Given the description of an element on the screen output the (x, y) to click on. 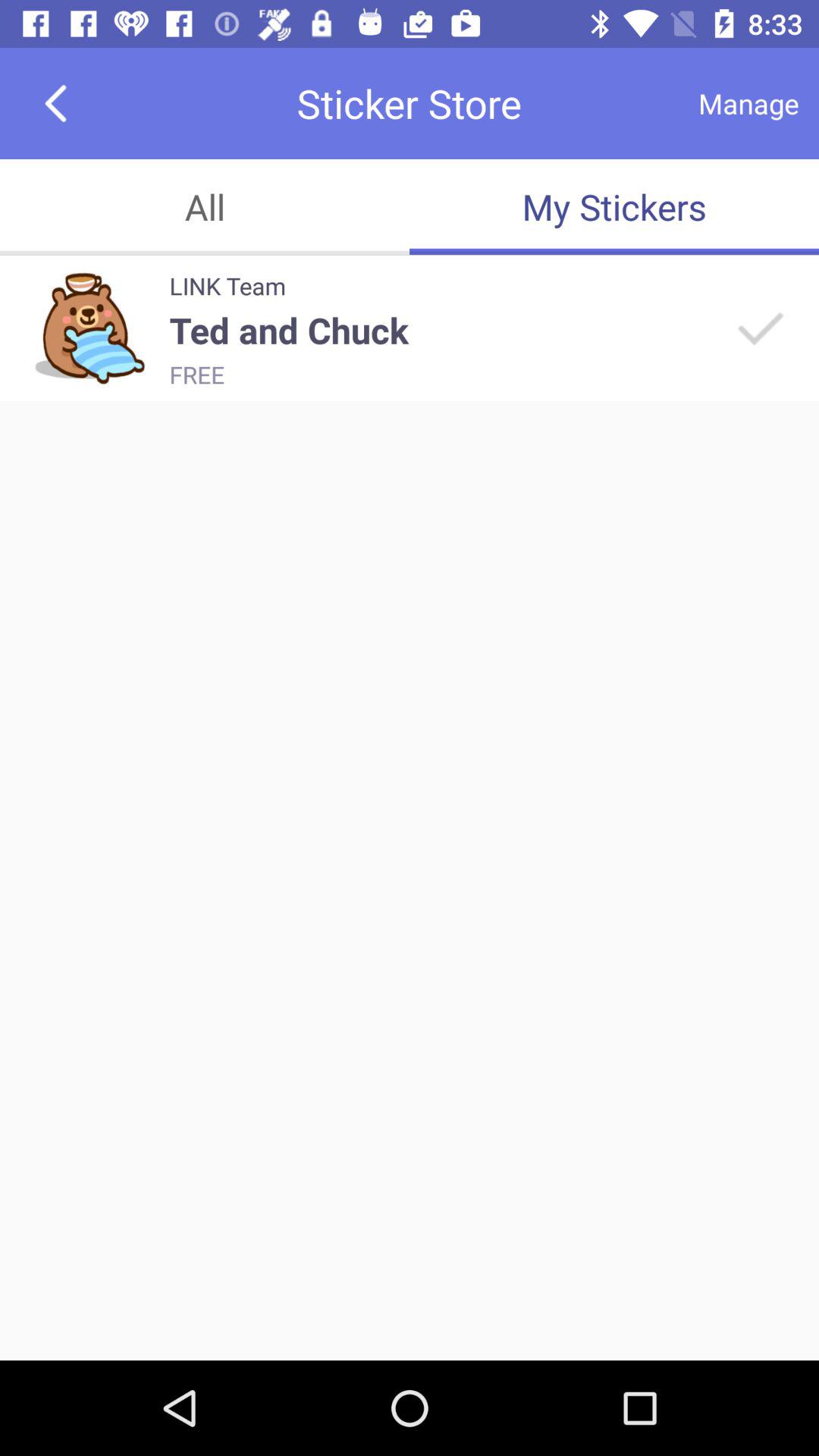
turn off the app to the right of the ted and chuck icon (758, 327)
